Given the description of an element on the screen output the (x, y) to click on. 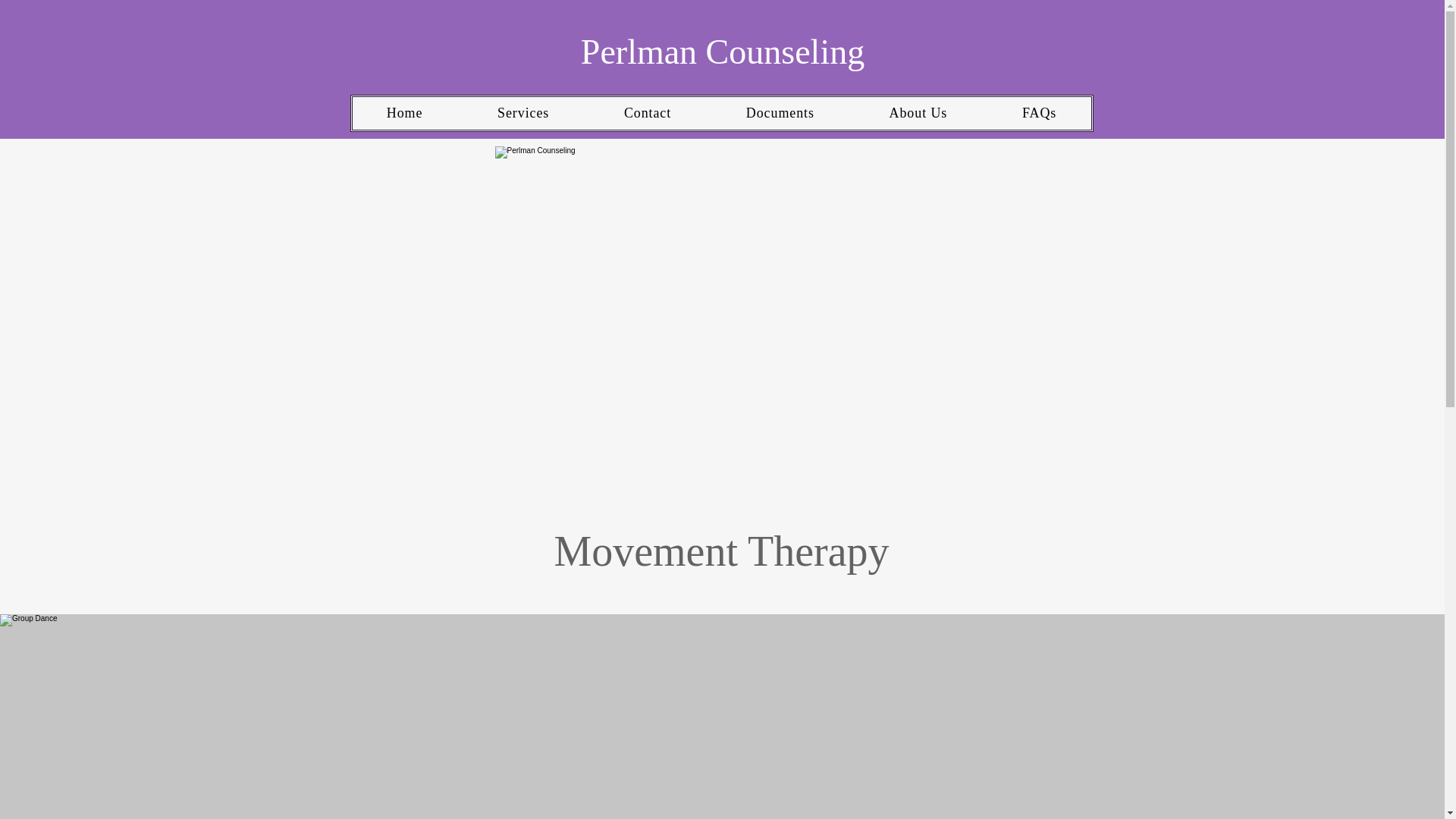
Contact (647, 113)
Home (404, 113)
Services (523, 113)
Documents (779, 113)
About Us (917, 113)
FAQs (1039, 113)
